Given the description of an element on the screen output the (x, y) to click on. 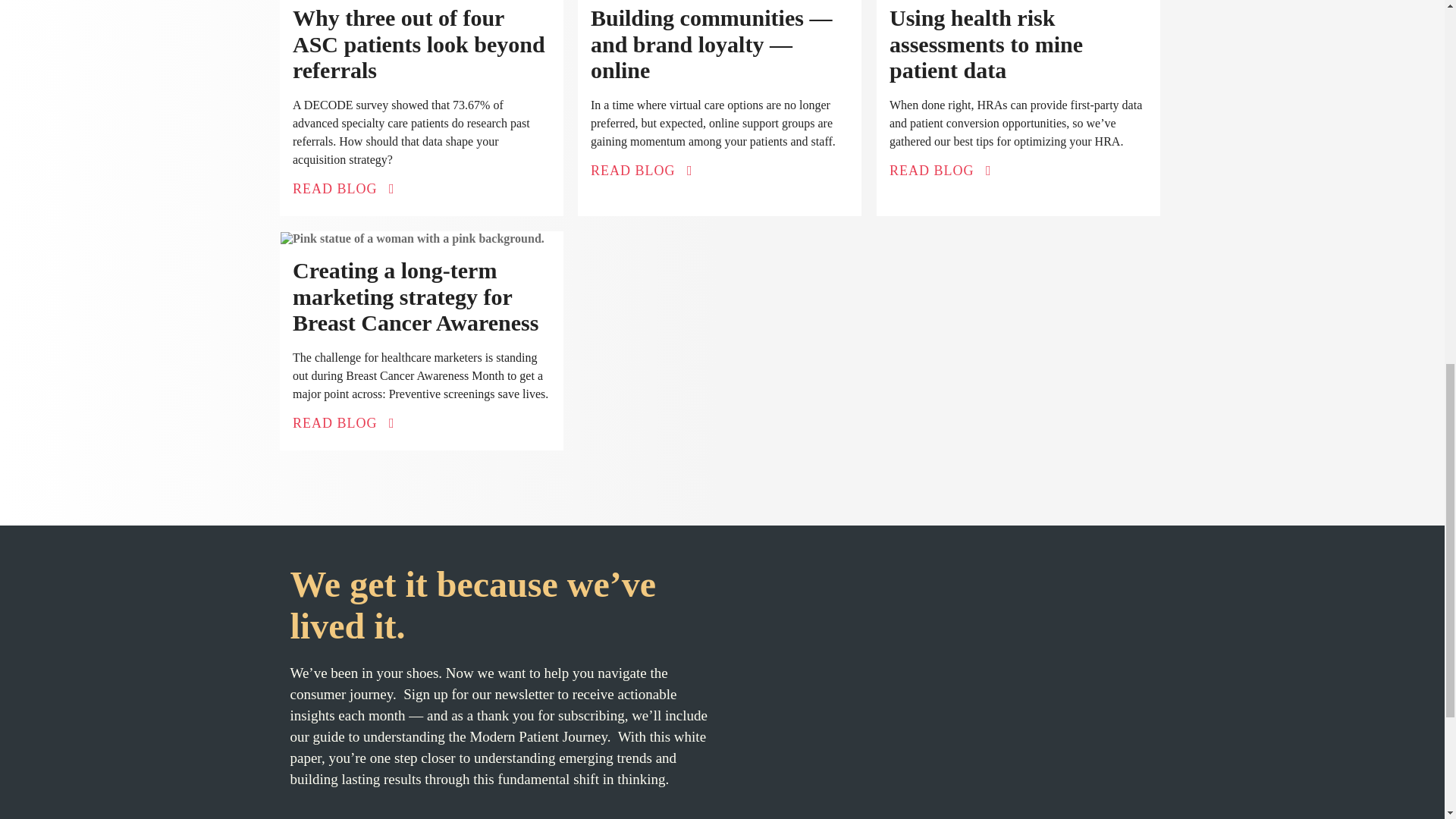
Form 0 (941, 695)
READ BLOG (642, 170)
Why three out of four ASC patients look beyond referrals (418, 43)
READ BLOG (940, 170)
READ BLOG (343, 188)
READ BLOG (343, 421)
Using health risk assessments to mine patient data (986, 43)
